Given the description of an element on the screen output the (x, y) to click on. 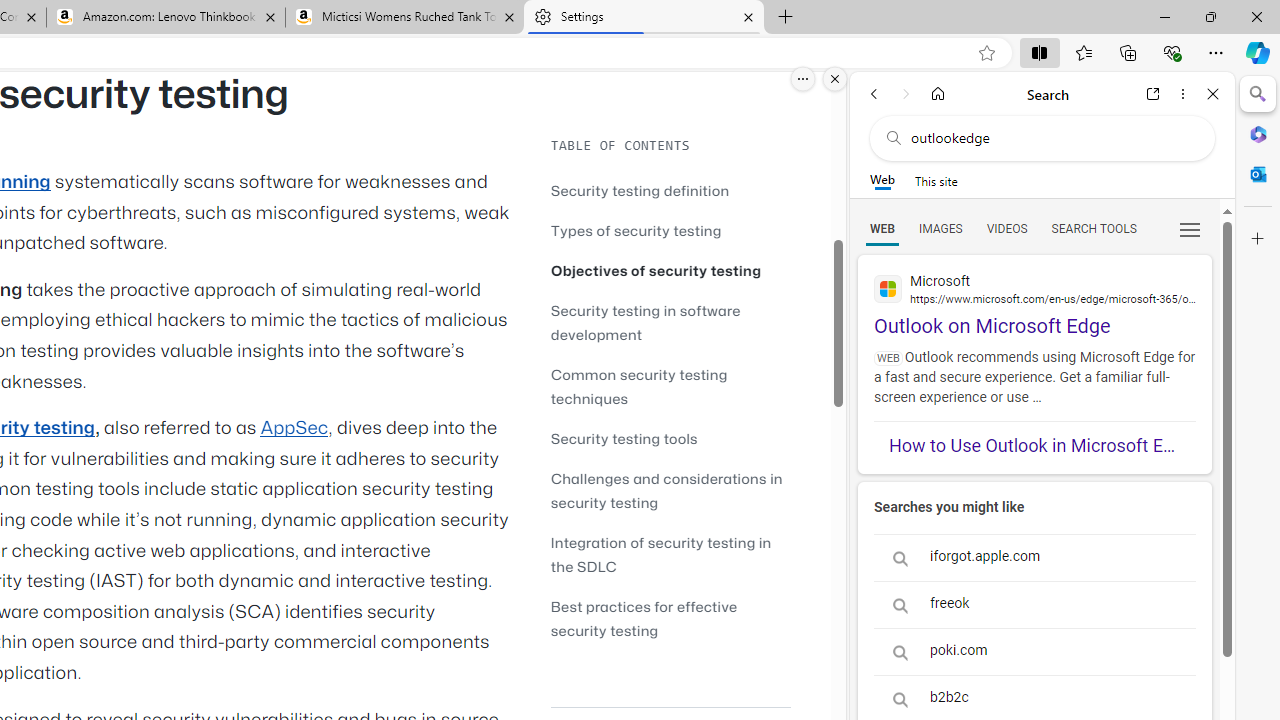
Common security testing techniques (639, 385)
Global web icon (888, 288)
Security testing in software development (670, 322)
VIDEOS (1006, 228)
freeok (1034, 604)
AppSec (293, 428)
Common security testing techniques (670, 386)
Best practices for effective security testing (670, 618)
Best practices for effective security testing (644, 618)
Security testing definition (639, 190)
